Given the description of an element on the screen output the (x, y) to click on. 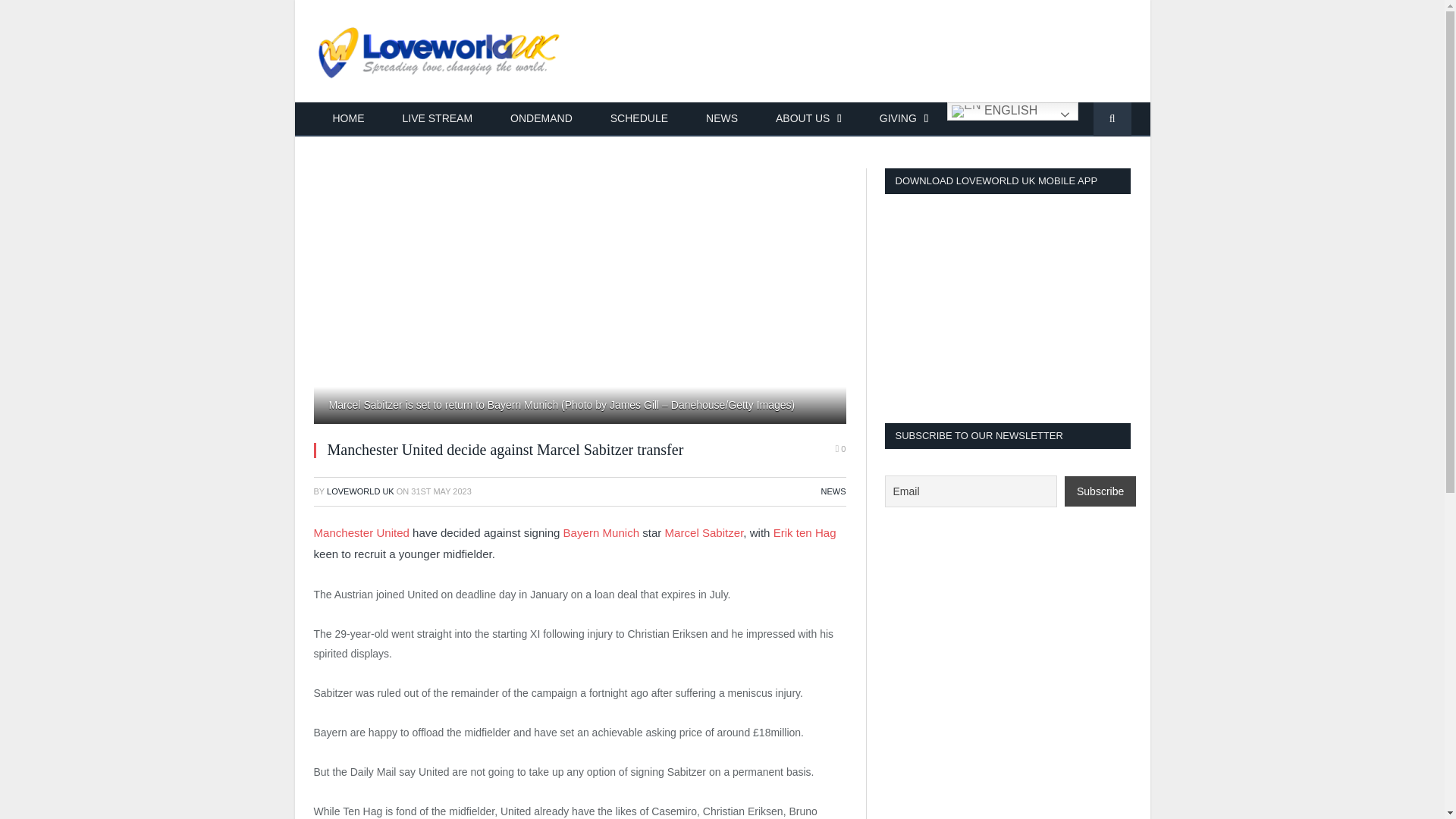
SCHEDULE (639, 119)
Loveworld UK (440, 51)
ONDEMAND (541, 119)
GIVING (903, 119)
HOME (349, 119)
Subscribe (1099, 490)
LIVE STREAM (438, 119)
ABOUT US (808, 119)
NEWS (722, 119)
ENGLISH (1012, 111)
